Given the description of an element on the screen output the (x, y) to click on. 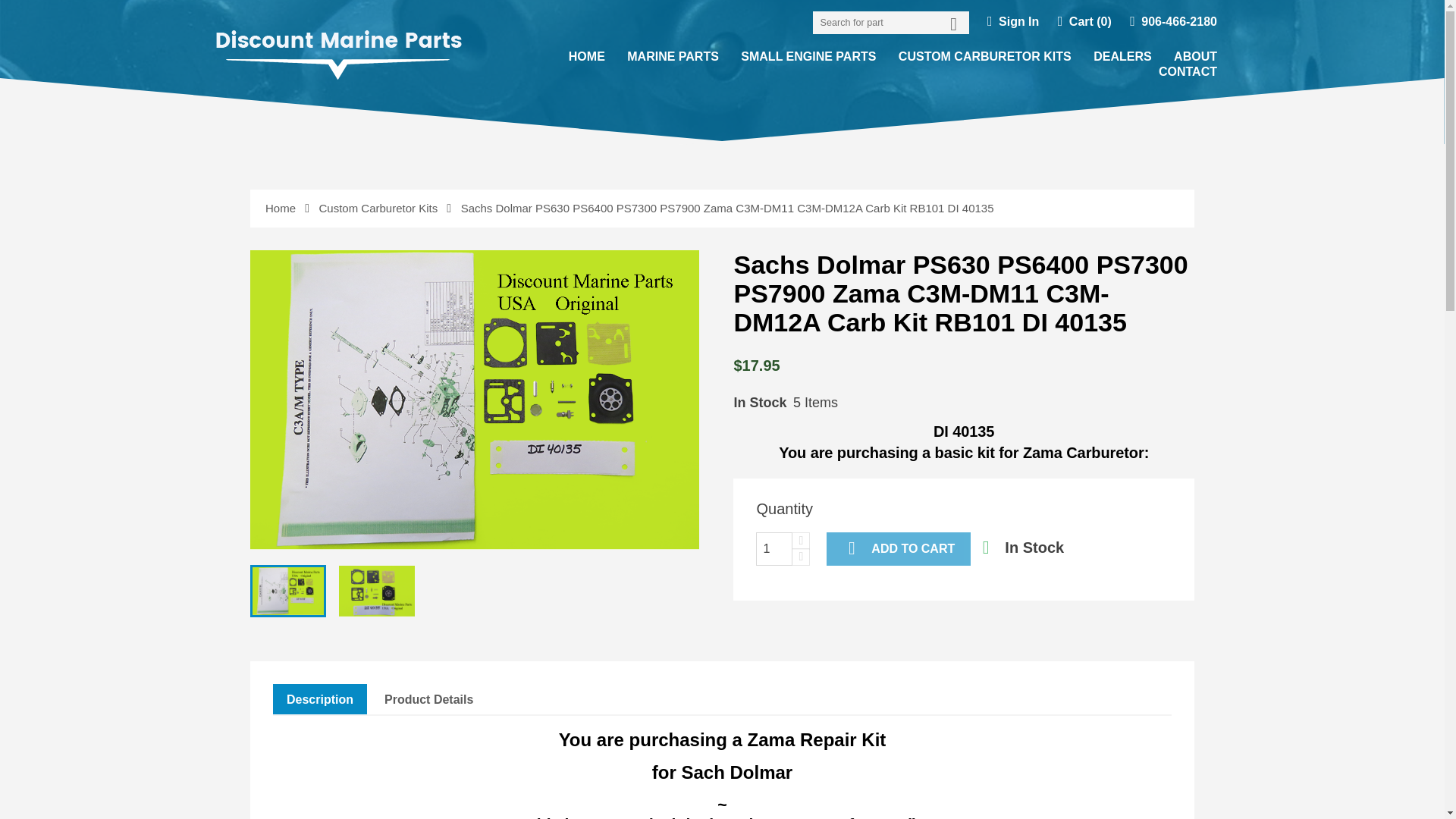
SMALL ENGINE PARTS (808, 56)
1 (773, 548)
Custom Carburetor Kits (379, 207)
Home (281, 207)
ABOUT (1195, 56)
CONTACT (1187, 71)
Refresh (32, 9)
Description (319, 699)
HOME (587, 56)
Product Details (428, 699)
